Given the description of an element on the screen output the (x, y) to click on. 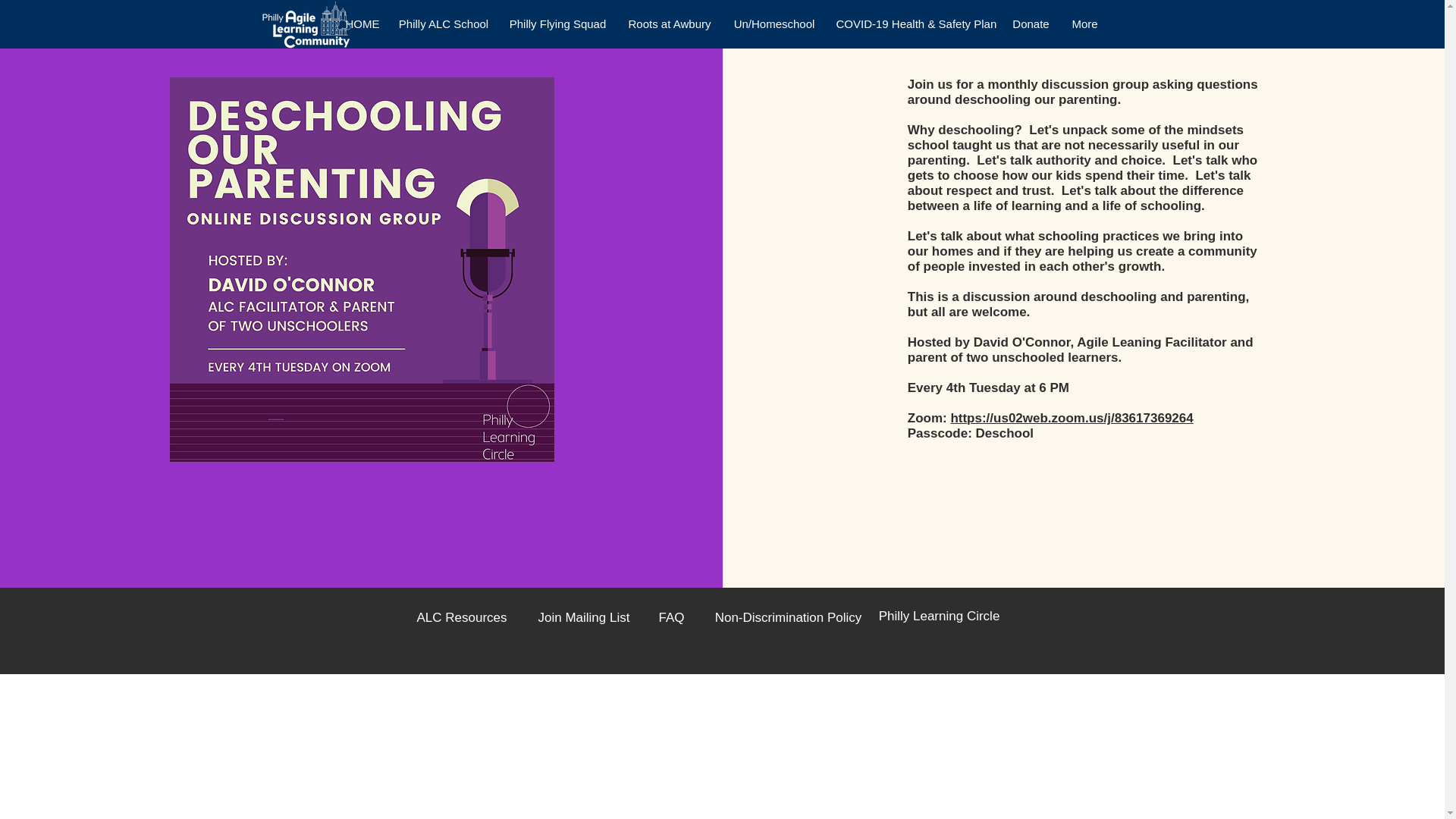
HOME (361, 24)
Donate (1030, 24)
ALC Resources (461, 617)
FAQ (671, 617)
Roots at Awbury (669, 24)
Philly ALC School (442, 24)
Non-Discrimination Policy (787, 617)
Philly Learning Circle (937, 616)
Philly Flying Squad (558, 24)
